Given the description of an element on the screen output the (x, y) to click on. 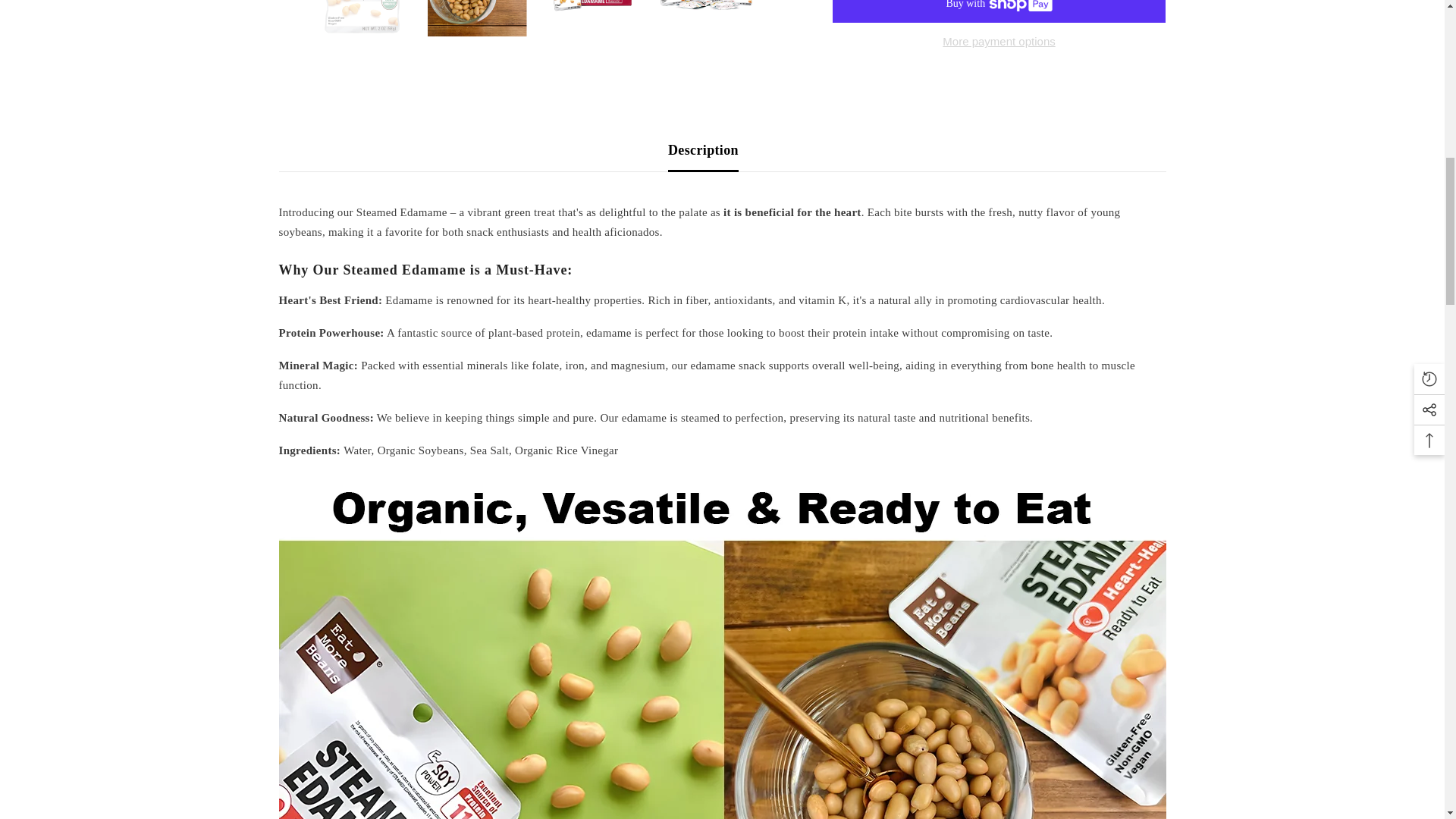
Description (703, 149)
